Given the description of an element on the screen output the (x, y) to click on. 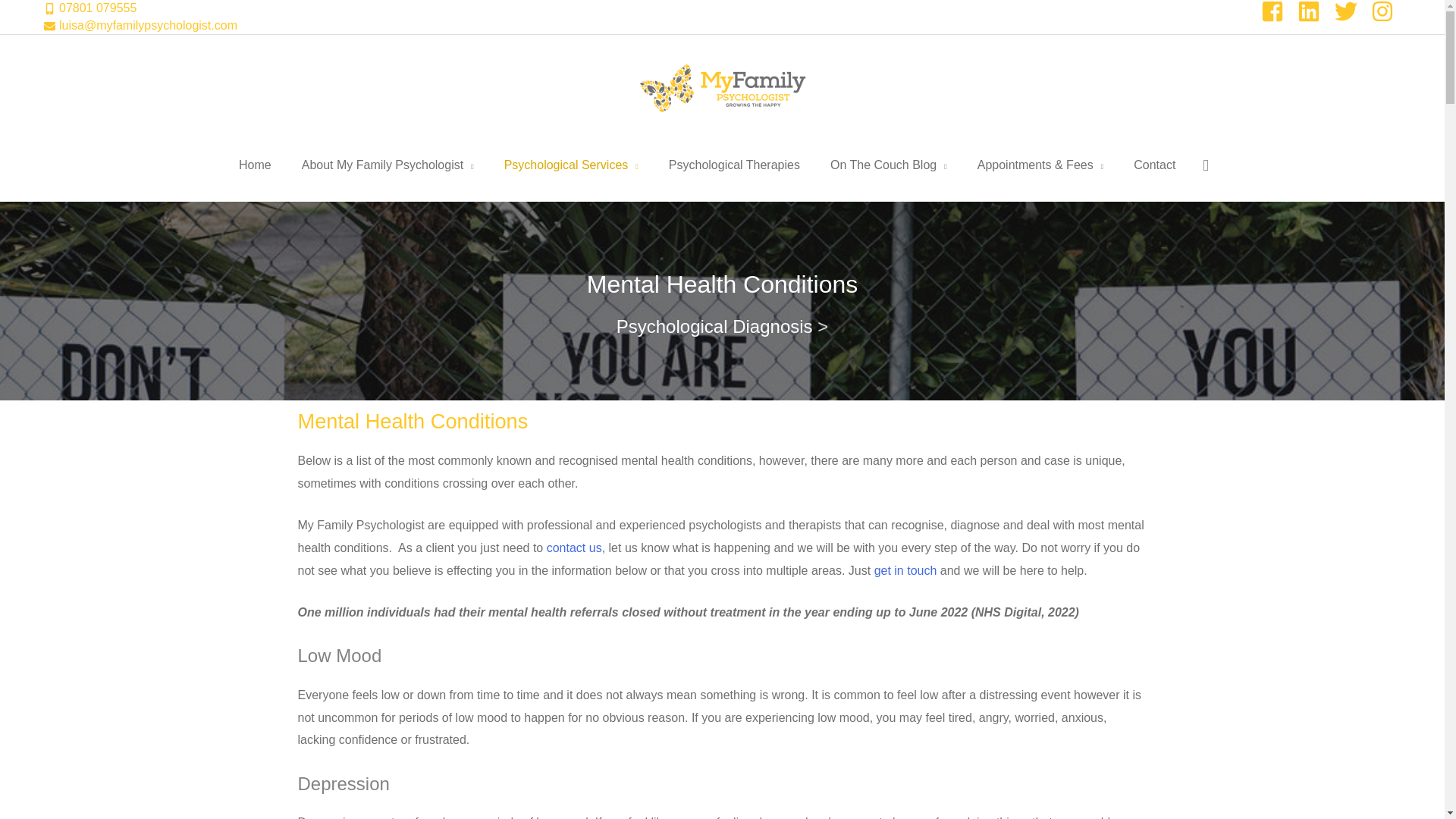
Home (255, 164)
On The Couch Blog (888, 164)
About My Family Psychologist (387, 164)
07801 079555 (89, 8)
Psychological Therapies (734, 164)
Psychological Services (571, 164)
